Given the description of an element on the screen output the (x, y) to click on. 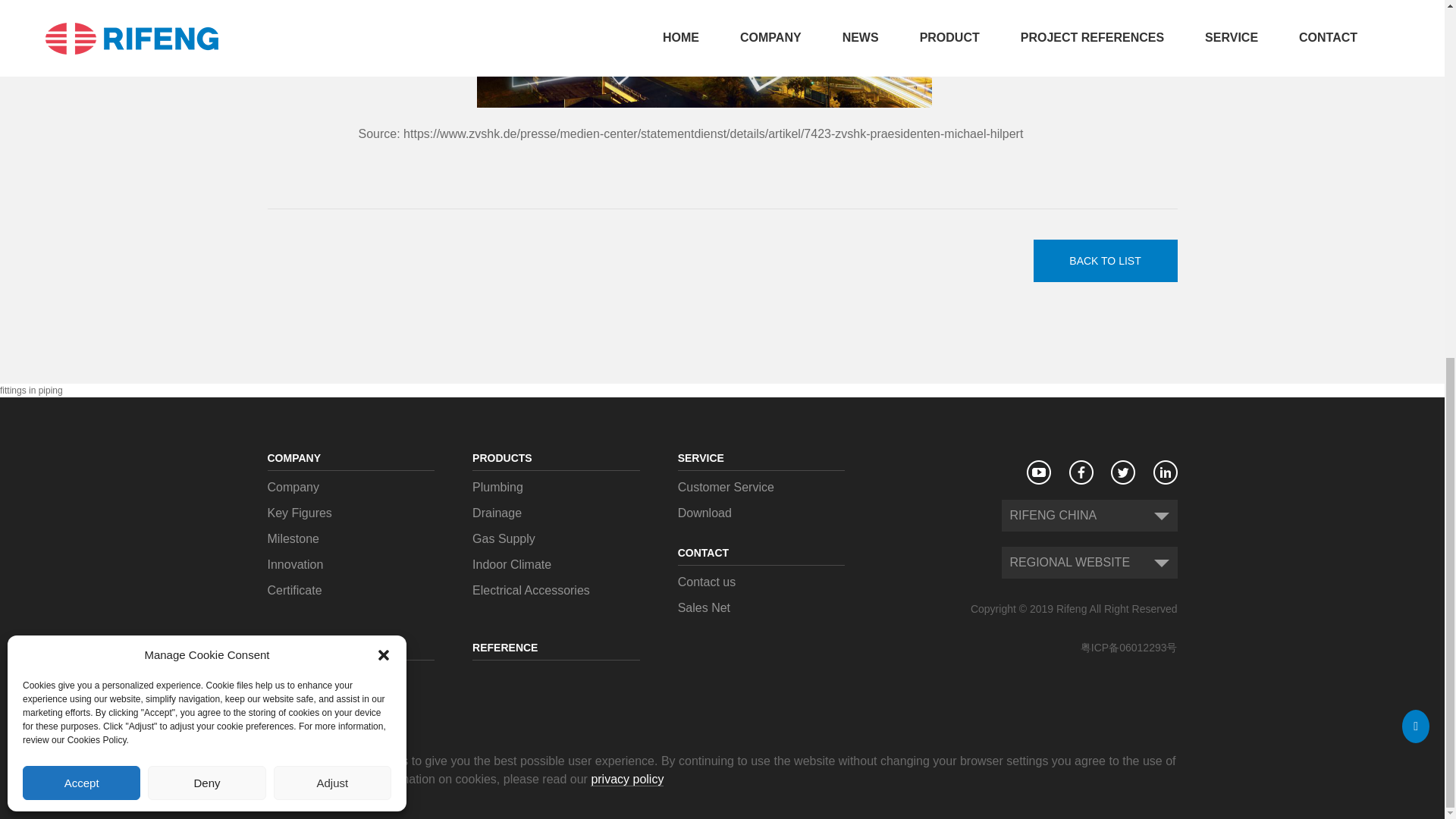
YOUTUBE (1038, 472)
linkedin (1164, 472)
facebook (1080, 472)
twttier (1122, 472)
